Given the description of an element on the screen output the (x, y) to click on. 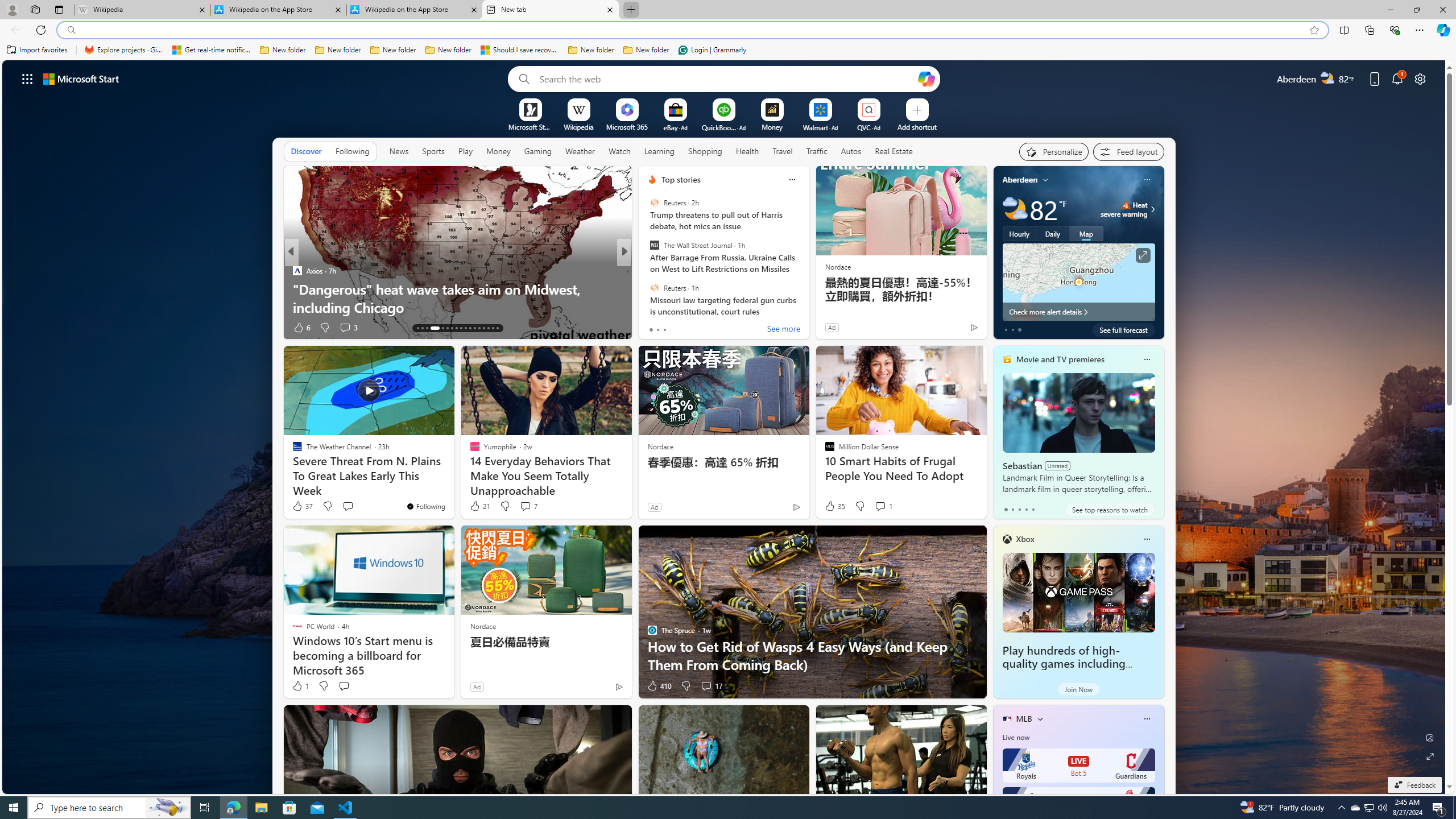
43 Like (303, 327)
My location (1045, 179)
AutomationID: tab-13 (417, 328)
AutomationID: backgroundImagePicture (723, 426)
Feed settings (1128, 151)
37 Like (301, 505)
AutomationID: tab-29 (497, 328)
You're following MSNBC (949, 329)
AutomationID: tab-16 (431, 328)
Royals LIVE Bot 5 Guardians (1077, 765)
View comments 4 Comment (705, 327)
AutomationID: tab-14 (422, 328)
